Given the description of an element on the screen output the (x, y) to click on. 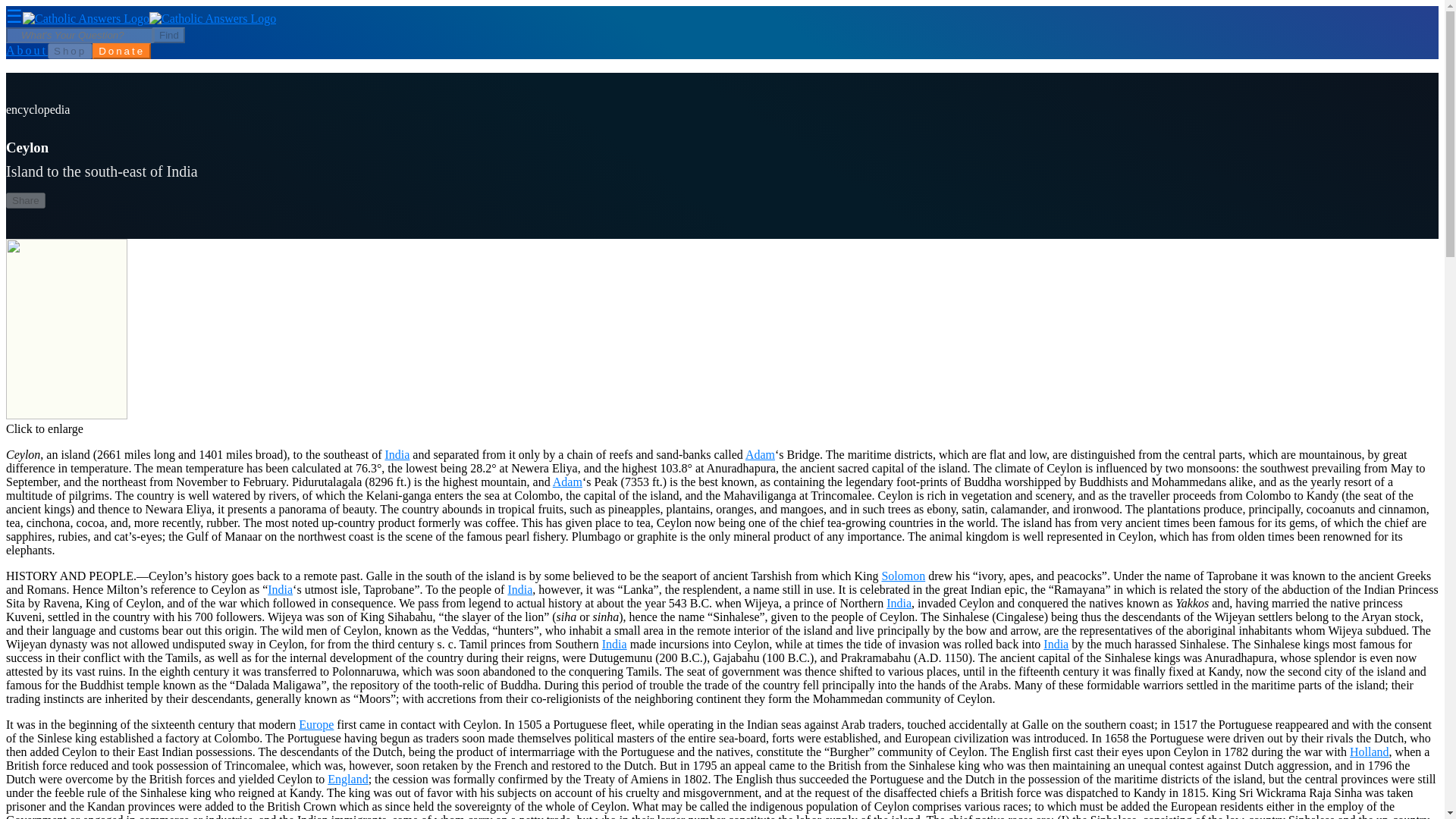
Shop (70, 50)
About (26, 50)
Find (168, 35)
Shop (70, 50)
Donate (122, 50)
